Given the description of an element on the screen output the (x, y) to click on. 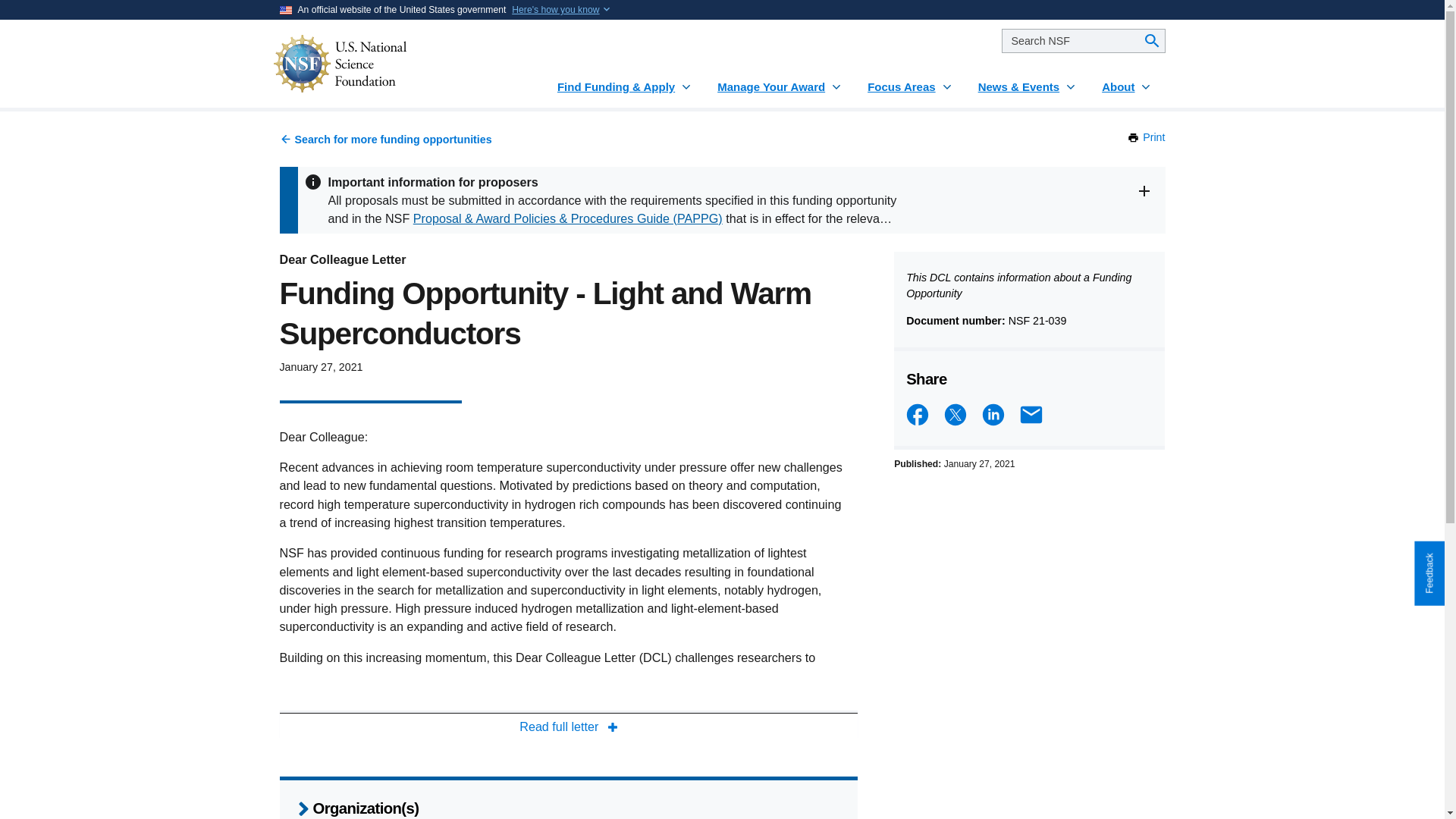
Focus Areas (910, 80)
LinkedIn (1145, 137)
Read full letter (992, 414)
Search for more funding opportunities (568, 726)
Here's how you know (385, 139)
search (555, 9)
Facebook (1082, 40)
About (917, 414)
Email (1126, 80)
Skip to main content (1030, 414)
NSF - National Science Foundation - Home (780, 80)
